Given the description of an element on the screen output the (x, y) to click on. 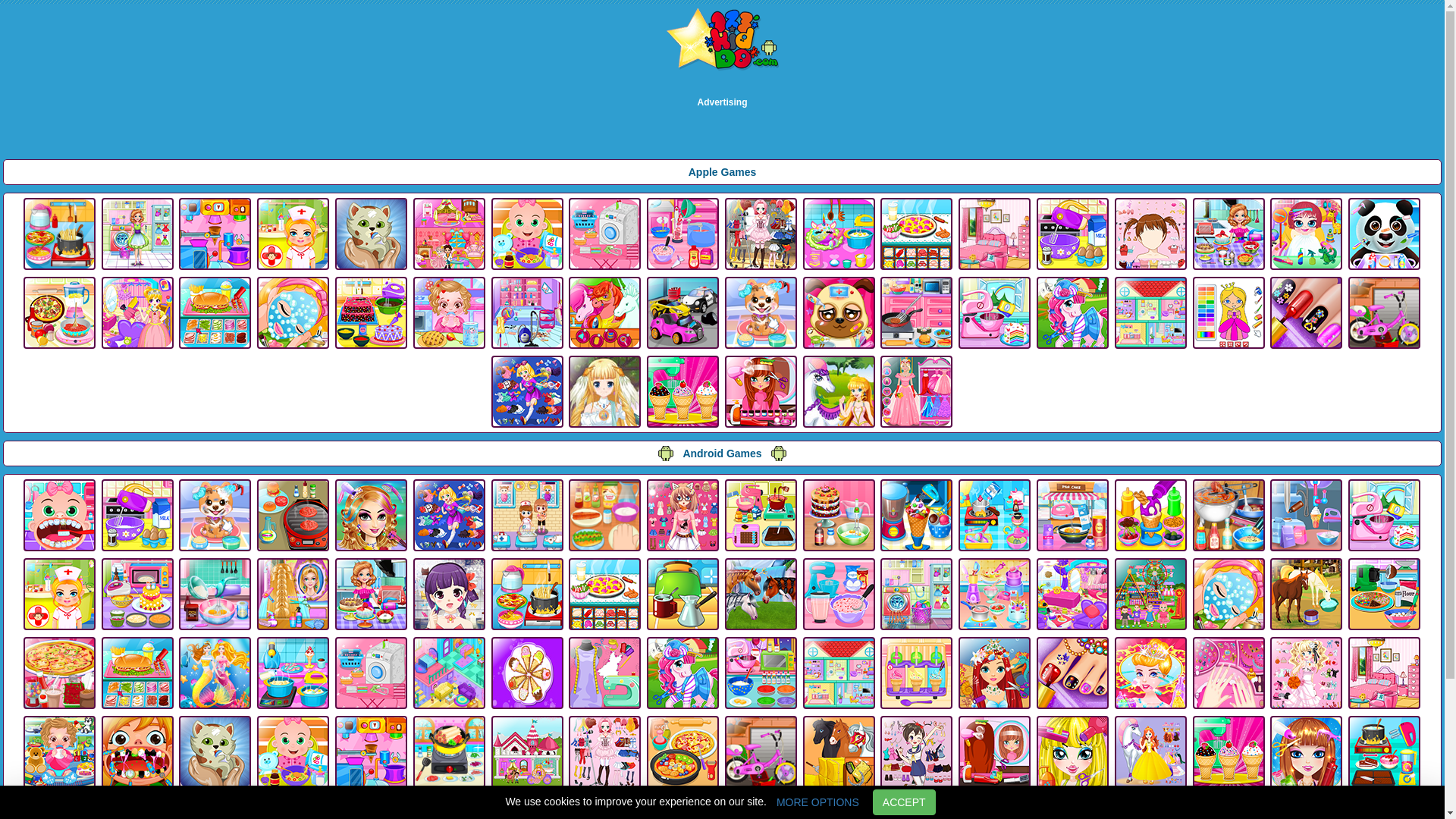
ACCEPT Element type: text (903, 802)
MORE OPTIONS Element type: text (817, 802)
